Given the description of an element on the screen output the (x, y) to click on. 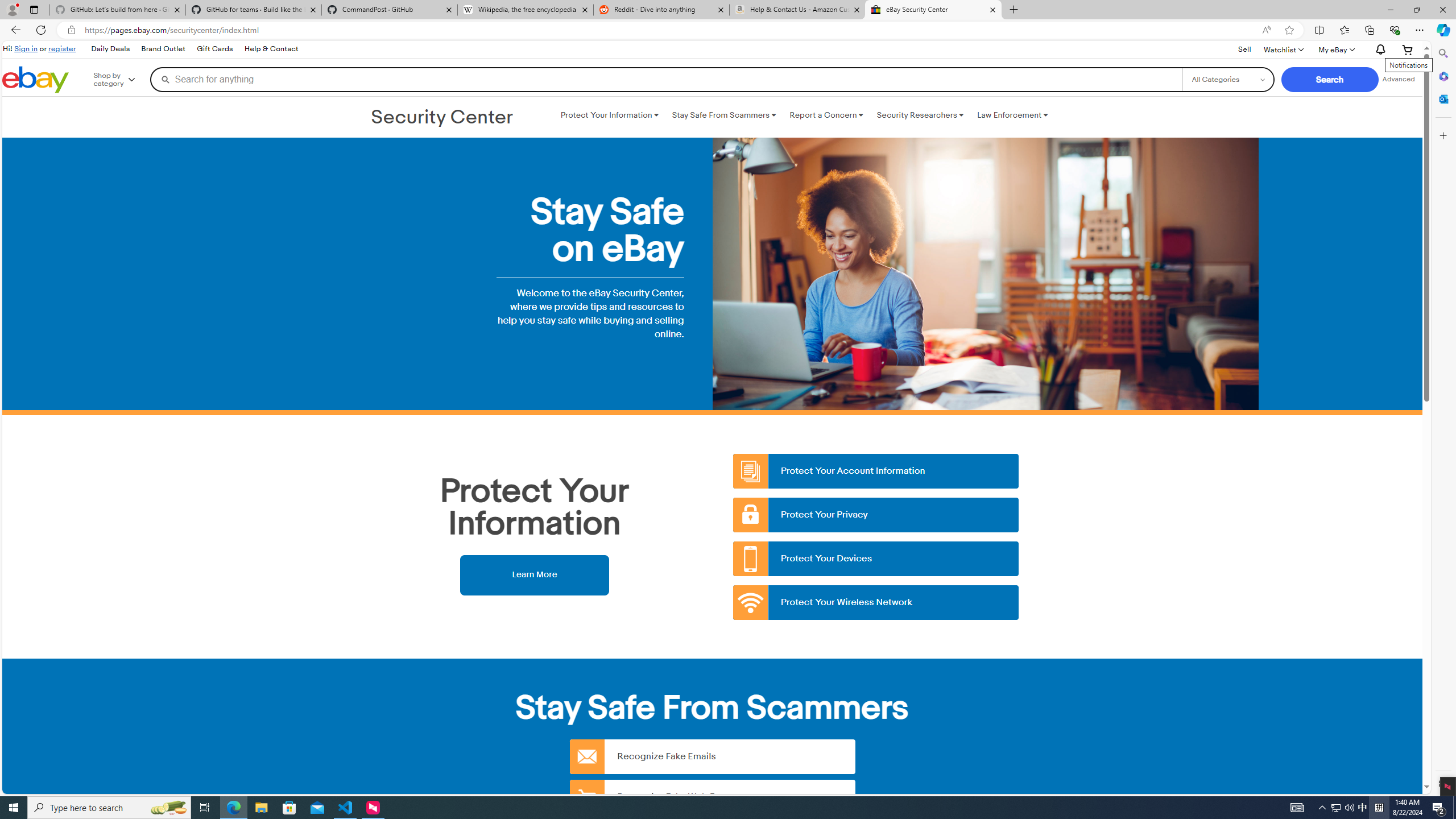
My eBay (1335, 49)
Advanced Search (1398, 78)
Search for anything (665, 78)
Report a Concern  (826, 115)
Protect Your Account Information (876, 470)
Help & Contact (270, 49)
Sell (1244, 49)
Protect Your Information  (608, 115)
Reddit - Dive into anything (660, 9)
My eBayExpand My eBay (1335, 49)
Report a Concern  (826, 115)
